Given the description of an element on the screen output the (x, y) to click on. 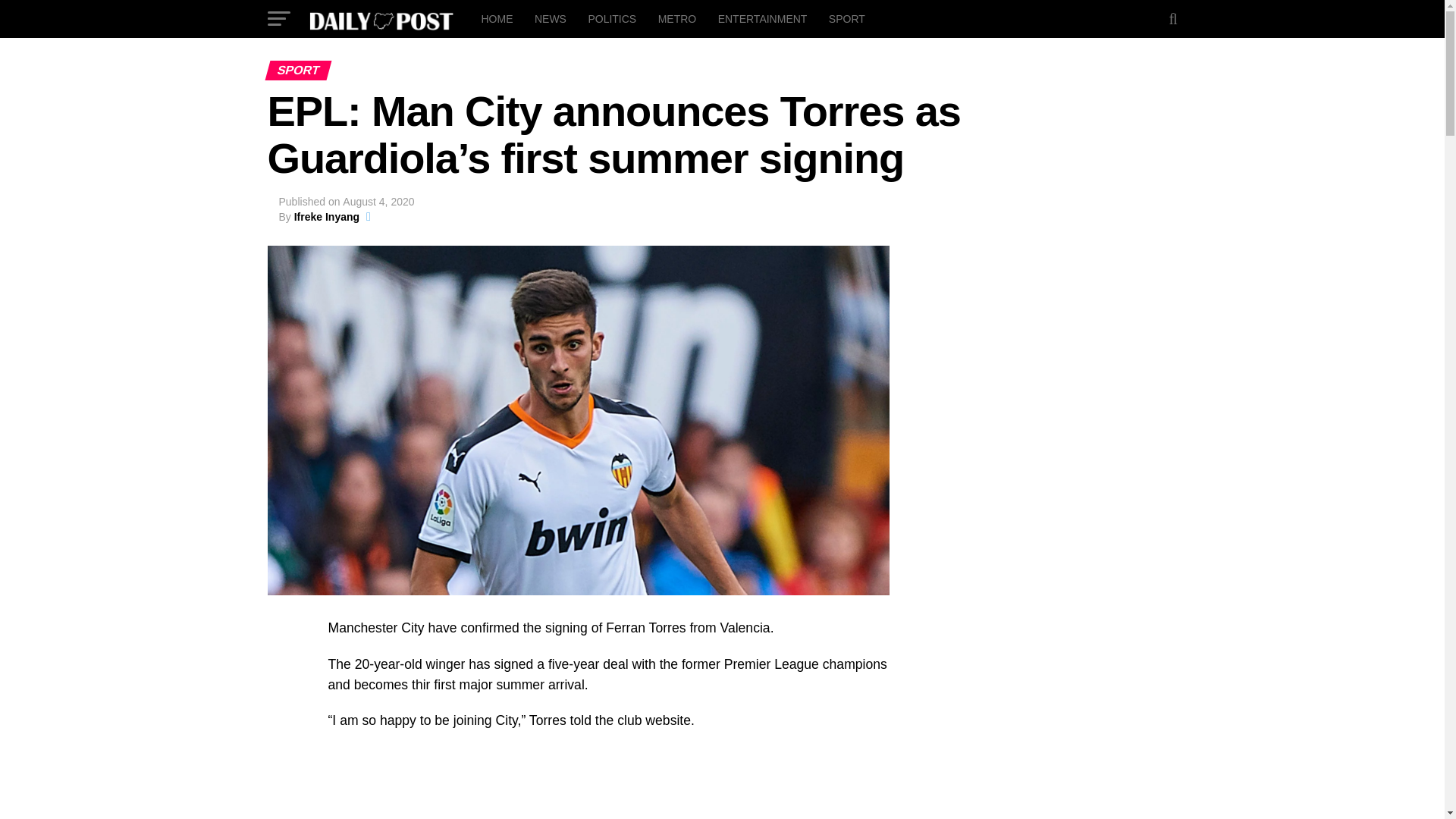
HOME (496, 18)
METRO (677, 18)
POLITICS (611, 18)
ENTERTAINMENT (762, 18)
Ifreke Inyang (326, 216)
NEWS (550, 18)
SPORT (847, 18)
Posts by Ifreke Inyang (326, 216)
